Given the description of an element on the screen output the (x, y) to click on. 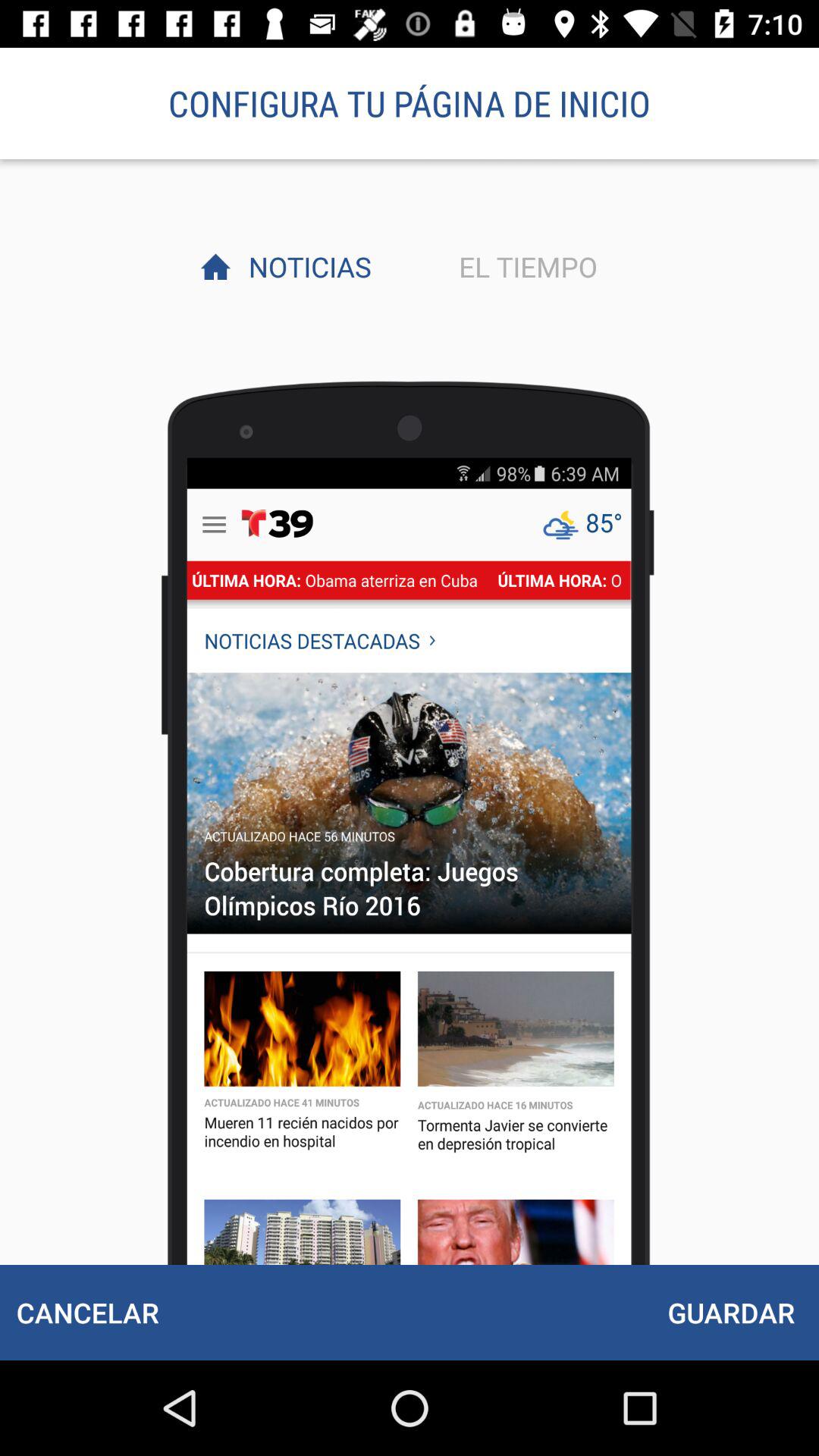
press the cancelar icon (87, 1312)
